Given the description of an element on the screen output the (x, y) to click on. 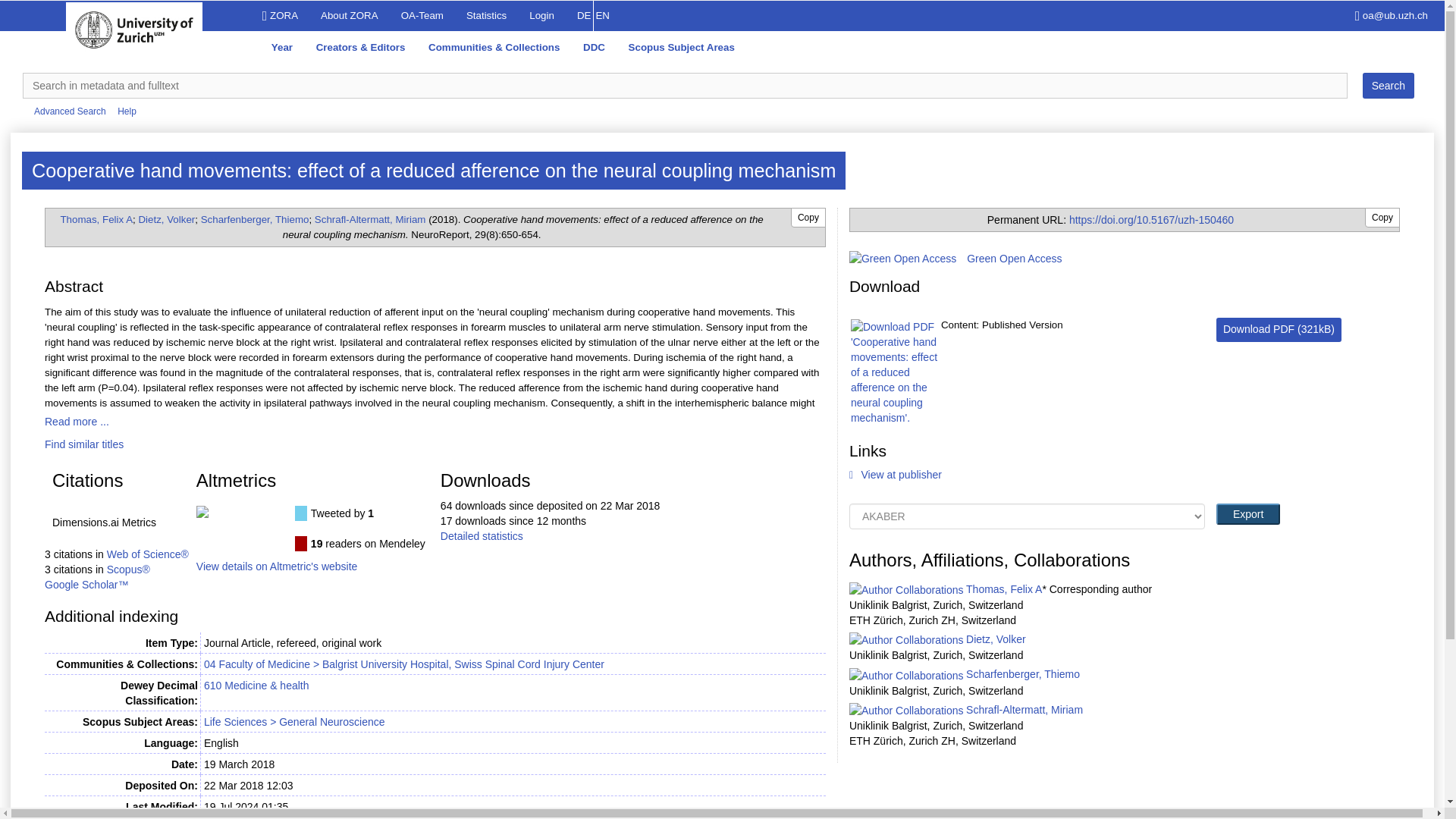
Search (1387, 85)
Dietz, Volker (166, 219)
Statistics (279, 15)
Find similar titles (486, 15)
Read more ... (84, 444)
Scharfenberger, Thiemo (77, 421)
Schrafl-Altermatt, Miriam (254, 219)
Help (370, 219)
Export (126, 111)
Search (1247, 513)
DDC (1387, 85)
Search (594, 48)
Advanced Search (1387, 85)
OA-Team (69, 111)
